Given the description of an element on the screen output the (x, y) to click on. 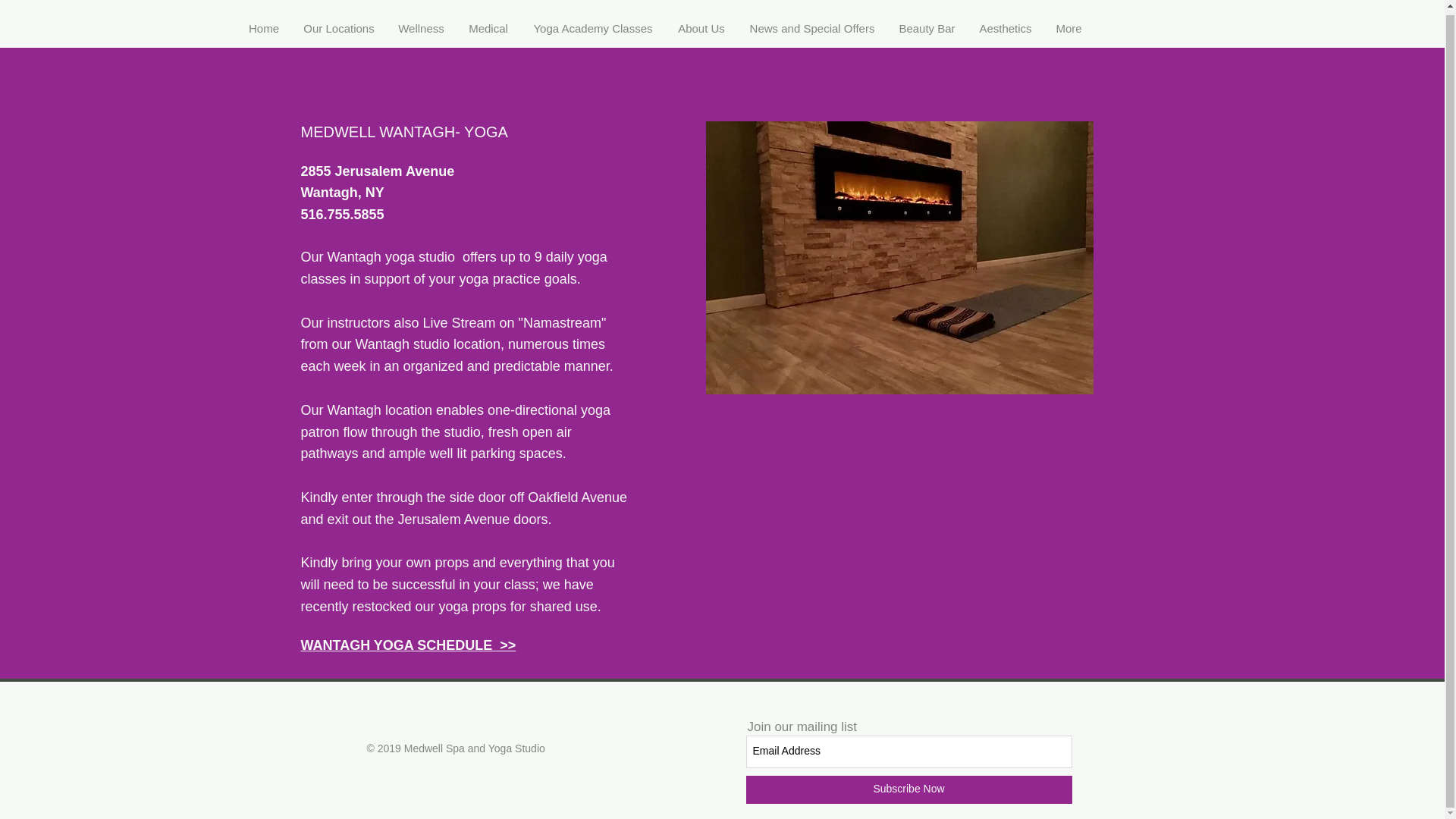
Home (263, 24)
Subscribe Now (908, 789)
